Given the description of an element on the screen output the (x, y) to click on. 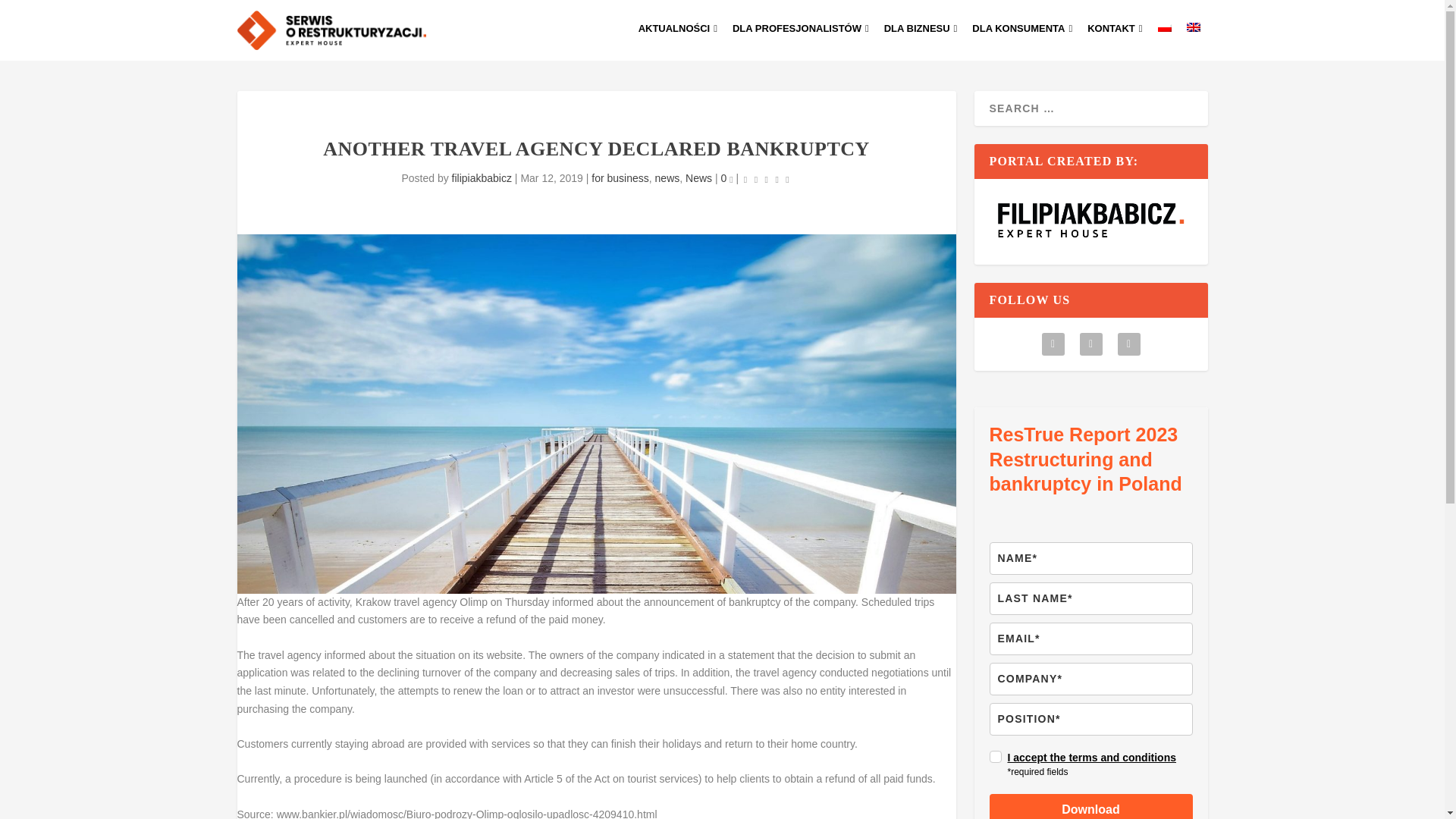
polski (1163, 26)
